Given the description of an element on the screen output the (x, y) to click on. 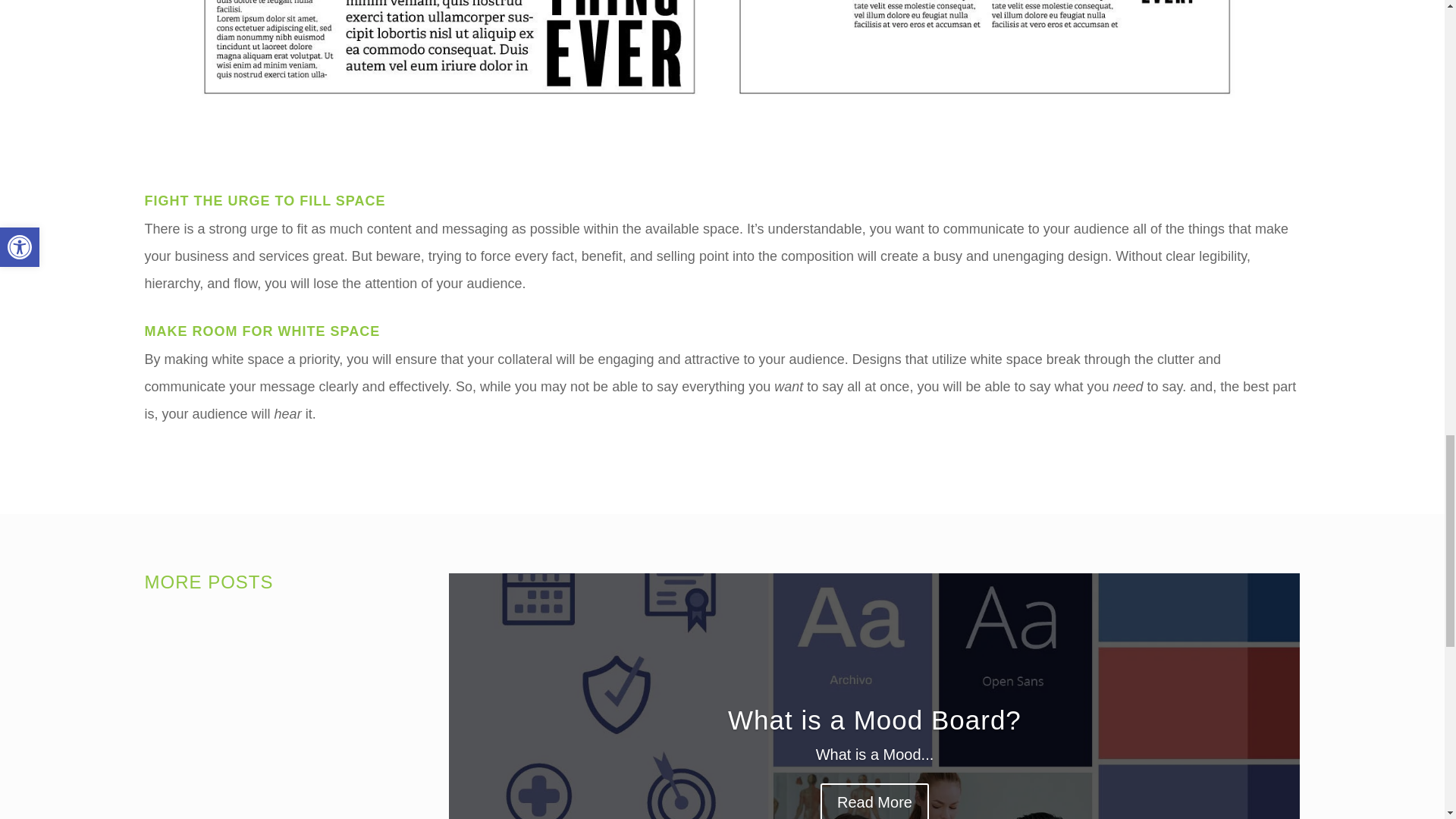
Read More (874, 815)
What is a Mood Board? (875, 749)
